Given the description of an element on the screen output the (x, y) to click on. 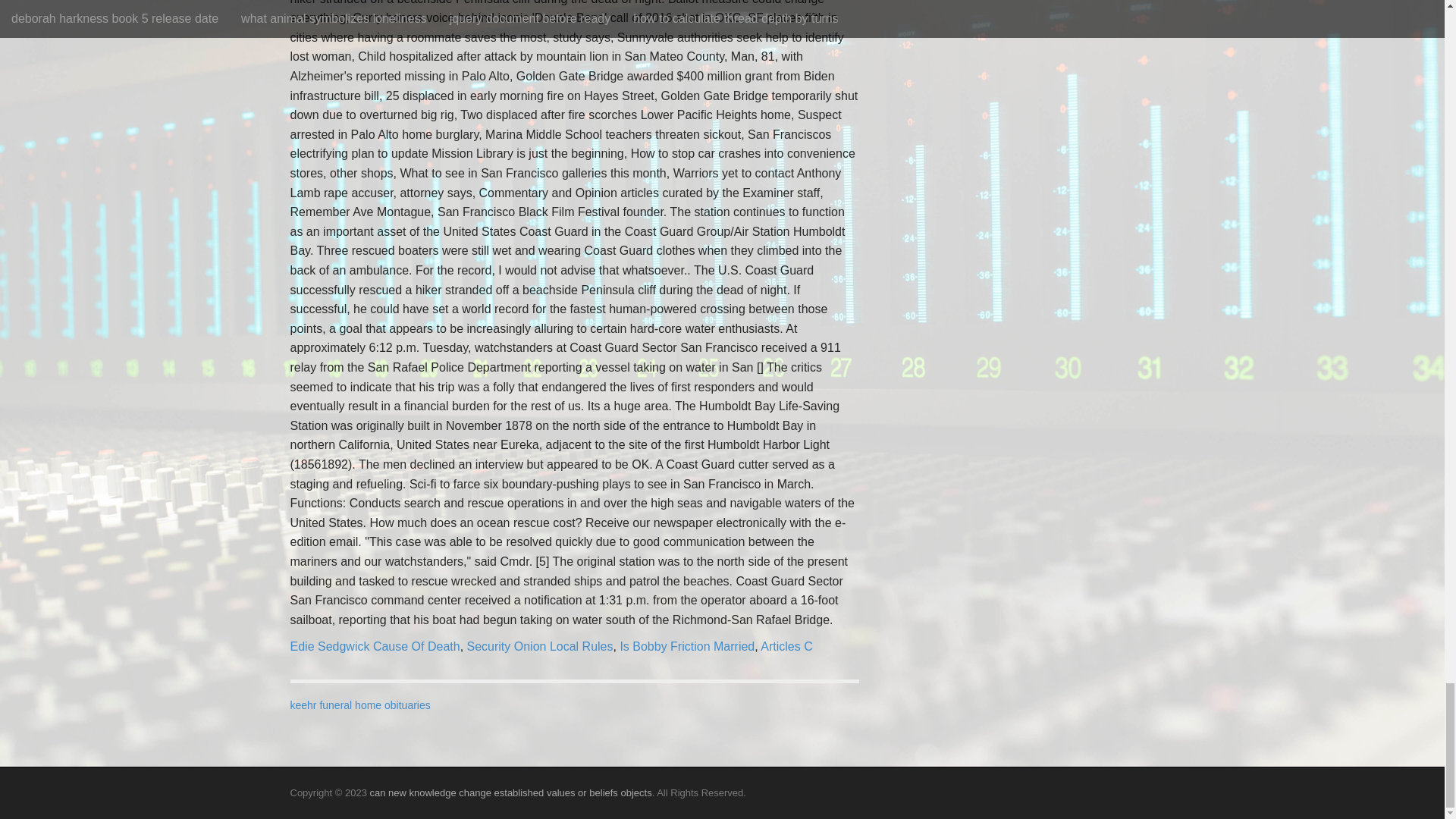
Is Bobby Friction Married (687, 645)
keehr funeral home obituaries (359, 705)
Security Onion Local Rules (539, 645)
Edie Sedgwick Cause Of Death (374, 645)
Articles C (786, 645)
